Given the description of an element on the screen output the (x, y) to click on. 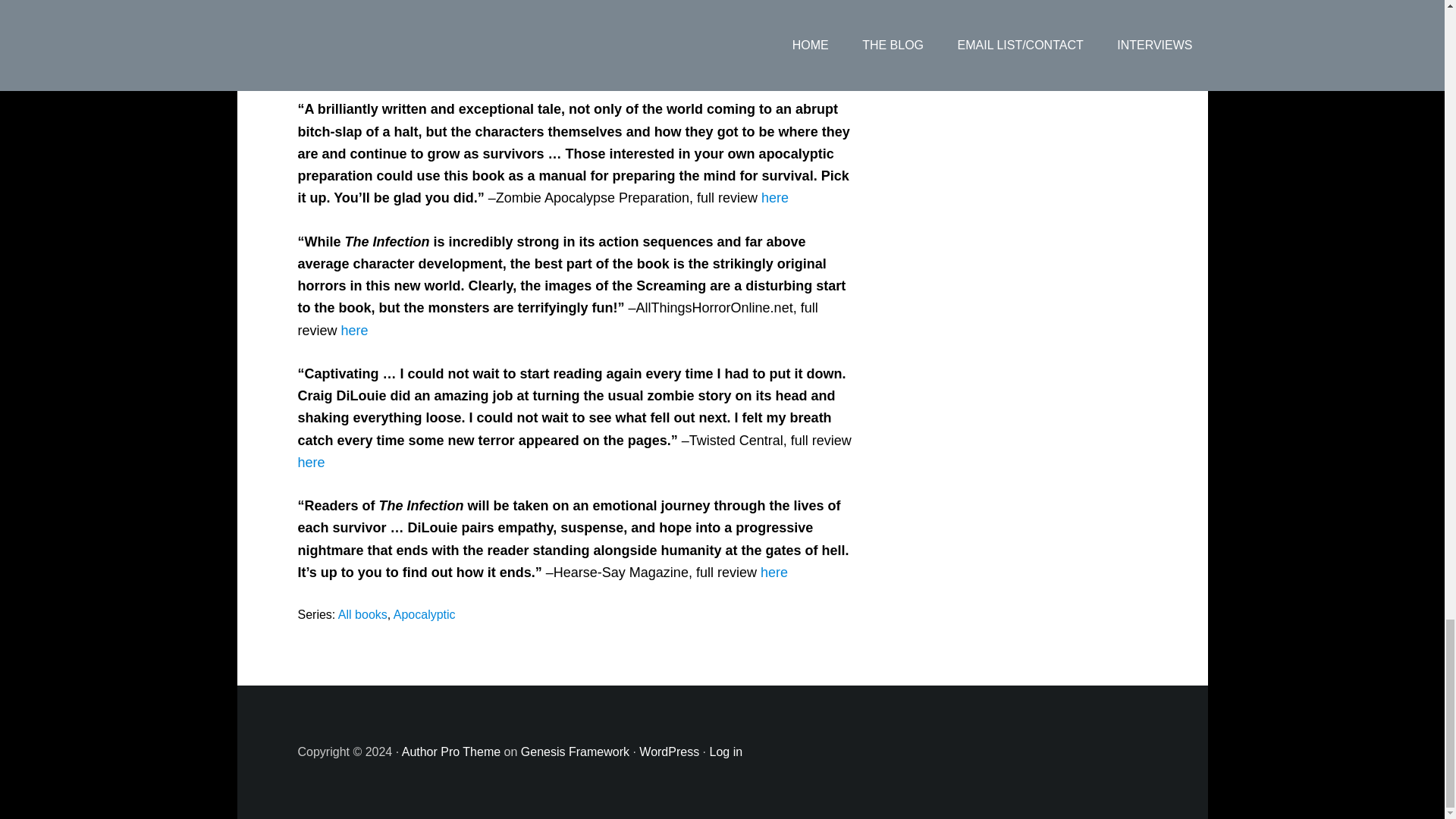
Log in (726, 751)
here (354, 330)
here (310, 462)
All books (362, 614)
here (435, 65)
here (775, 197)
here (773, 572)
Apocalyptic (424, 614)
Genesis Framework (574, 751)
Author Pro Theme (450, 751)
